Given the description of an element on the screen output the (x, y) to click on. 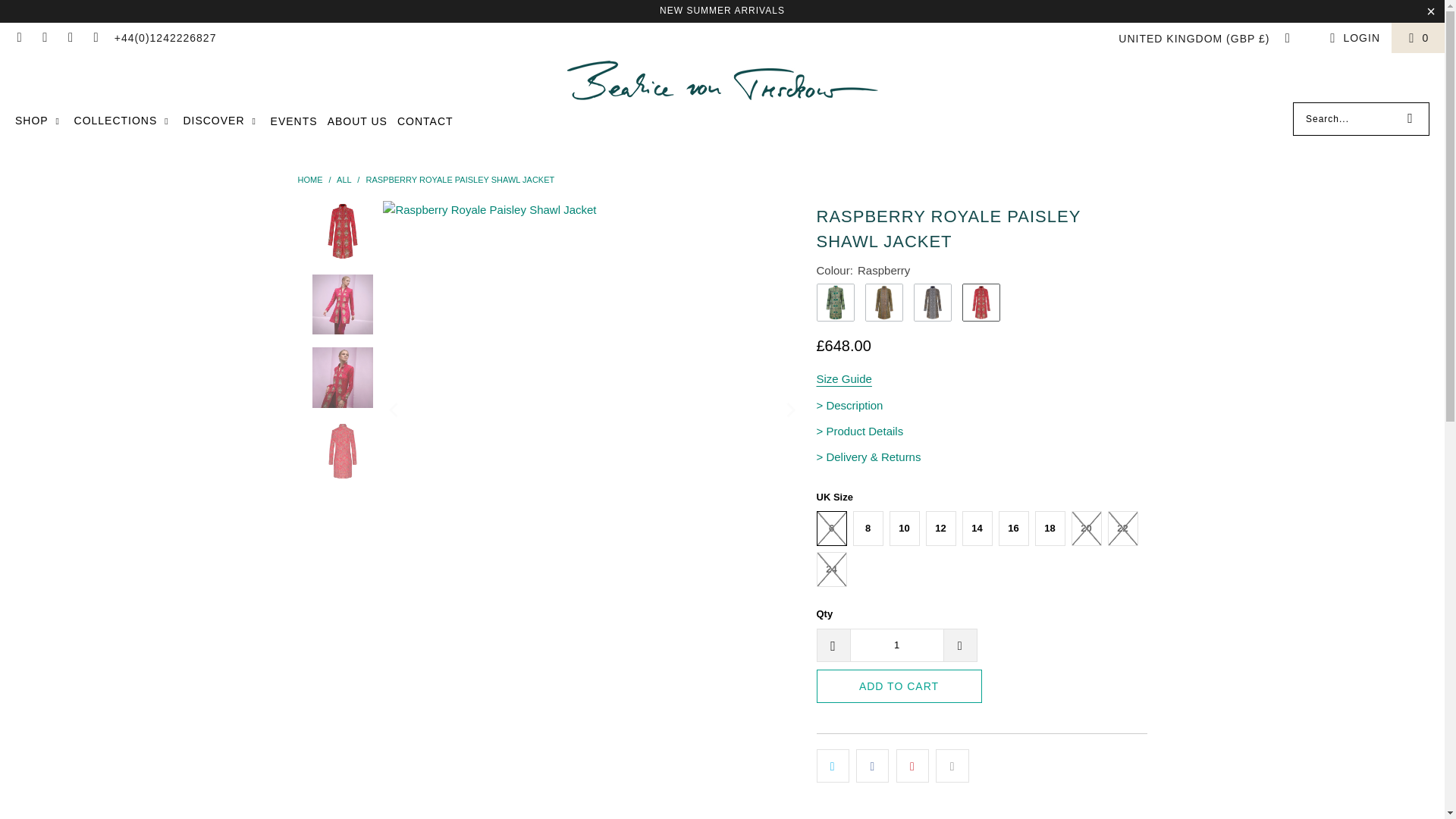
Beatrice von Tresckow Designs on Instagram (44, 37)
All (343, 179)
Beatrice von Tresckow Designs on Twitter (95, 37)
Beatrice von Tresckow Designs (722, 81)
New Arrivals (721, 9)
My Account  (1352, 37)
1 (895, 644)
Beatrice von Tresckow Designs on Facebook (18, 37)
Share this on Pinterest (912, 765)
Beatrice von Tresckow Designs (309, 179)
Email this to a friend (952, 765)
Beatrice von Tresckow Designs on Pinterest (69, 37)
Share this on Facebook (872, 765)
Share this on Twitter (831, 765)
